Given the description of an element on the screen output the (x, y) to click on. 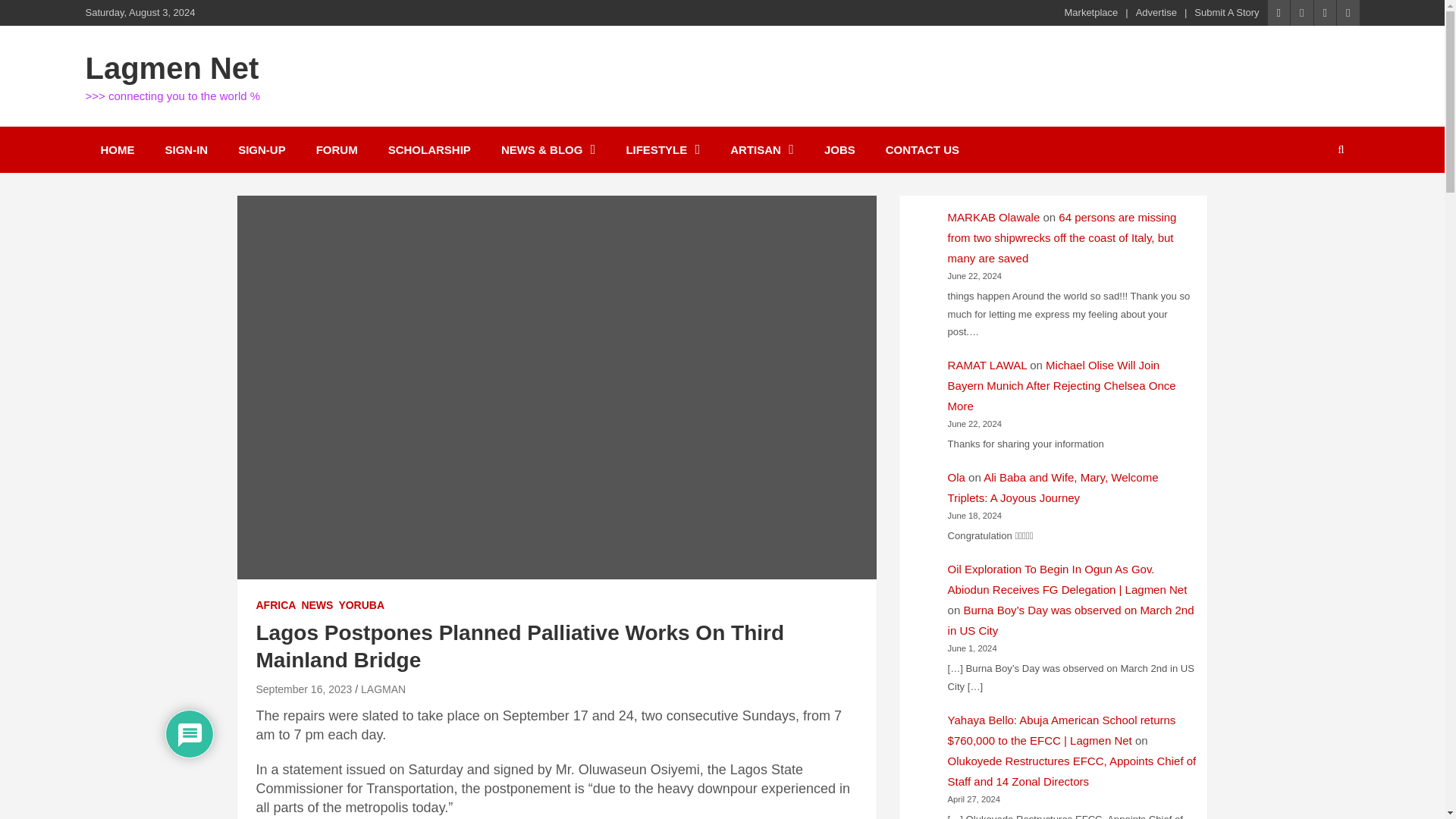
ARTISAN (761, 149)
Submit A Story (1226, 12)
September 16, 2023 (304, 689)
Advertise (1155, 12)
FORUM (336, 149)
AFRICA (276, 605)
Lagmen Net (171, 68)
JOBS (839, 149)
LIFESTYLE (662, 149)
LAGMAN (383, 689)
SCHOLARSHIP (429, 149)
NEWS (317, 605)
YORUBA (360, 605)
SIGN-UP (261, 149)
